Given the description of an element on the screen output the (x, y) to click on. 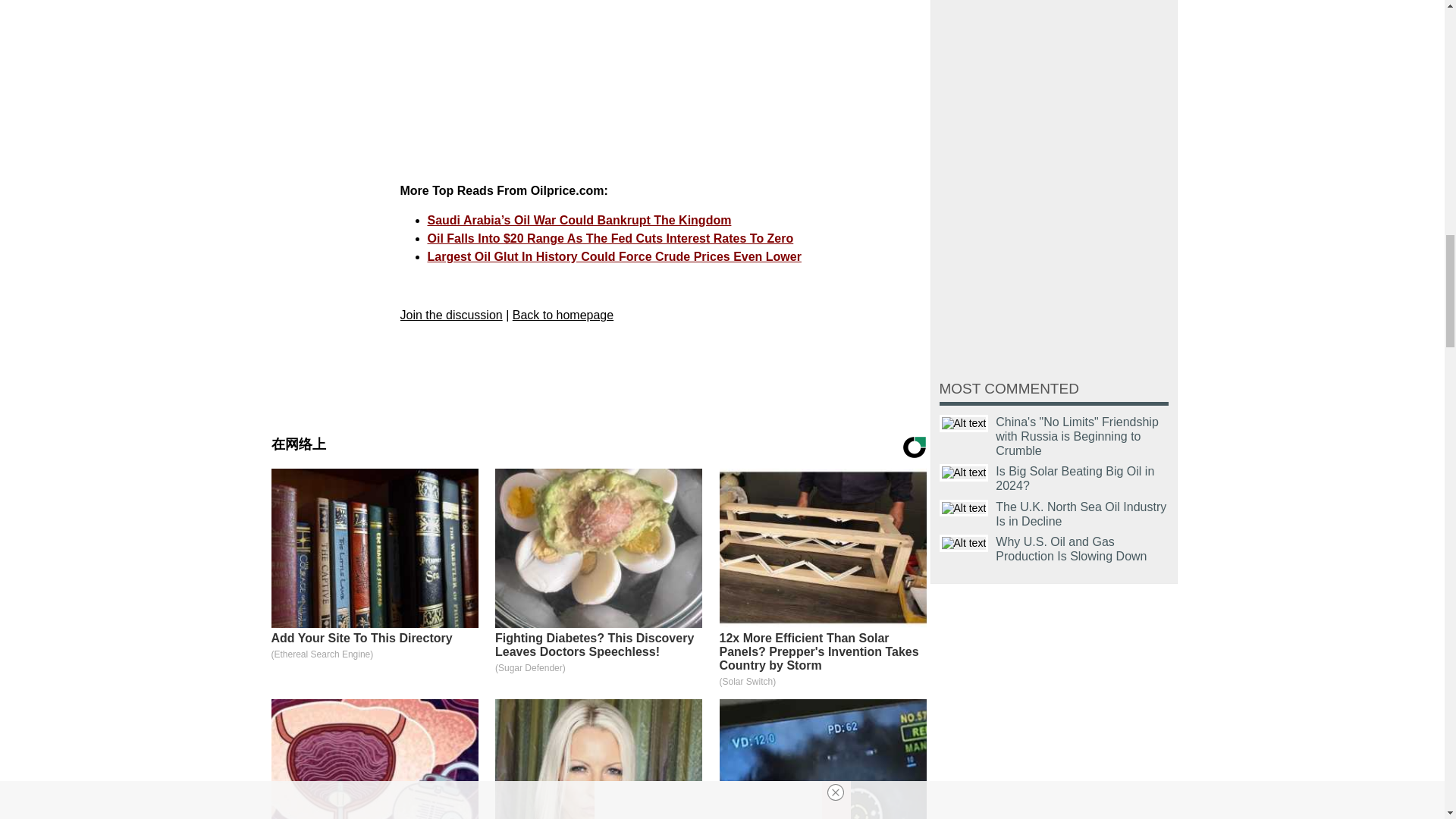
Title text (963, 423)
Title text (963, 507)
Title text (963, 472)
3rd party ad content (655, 85)
